Given the description of an element on the screen output the (x, y) to click on. 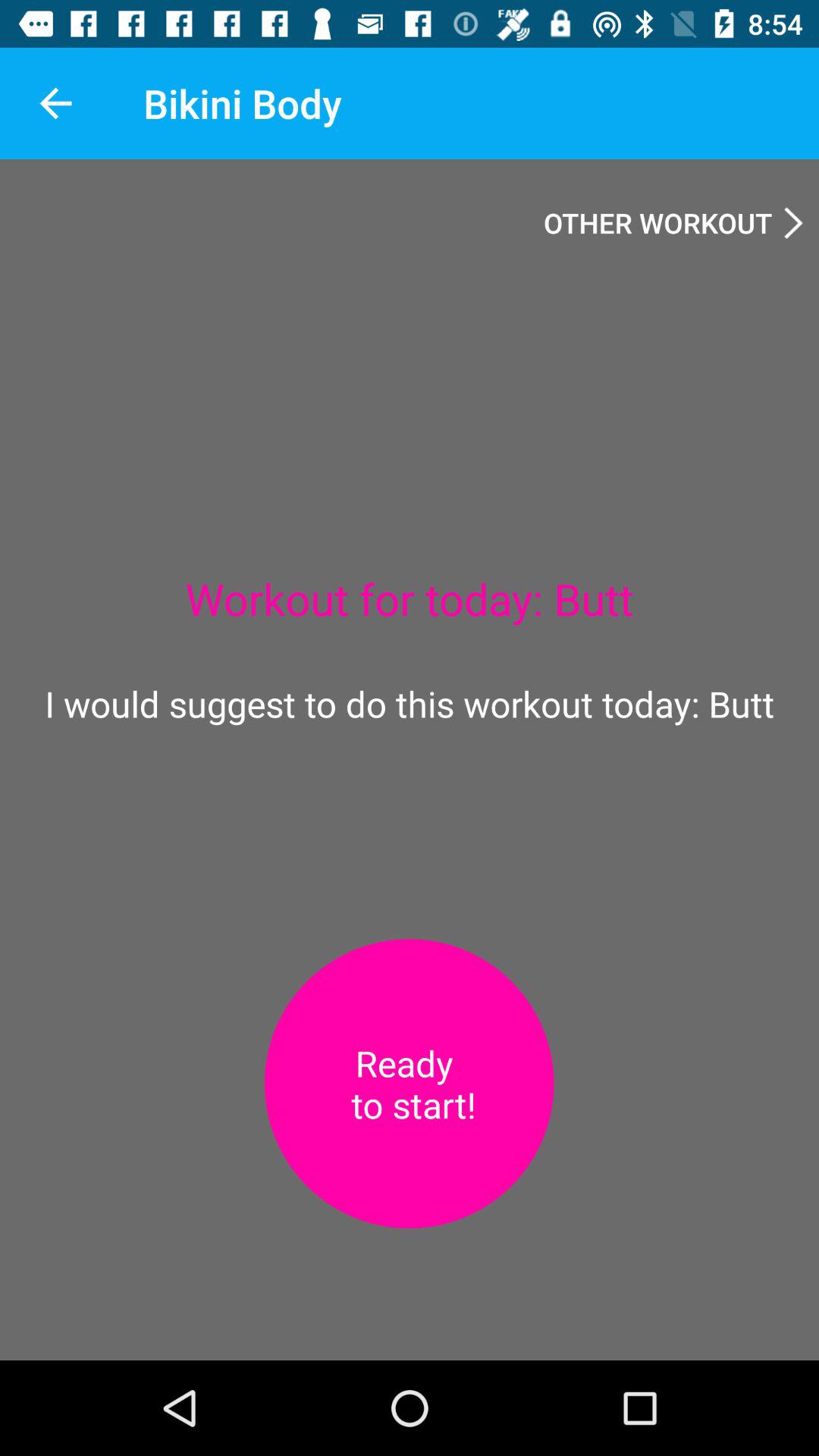
turn off other workout (673, 222)
